Given the description of an element on the screen output the (x, y) to click on. 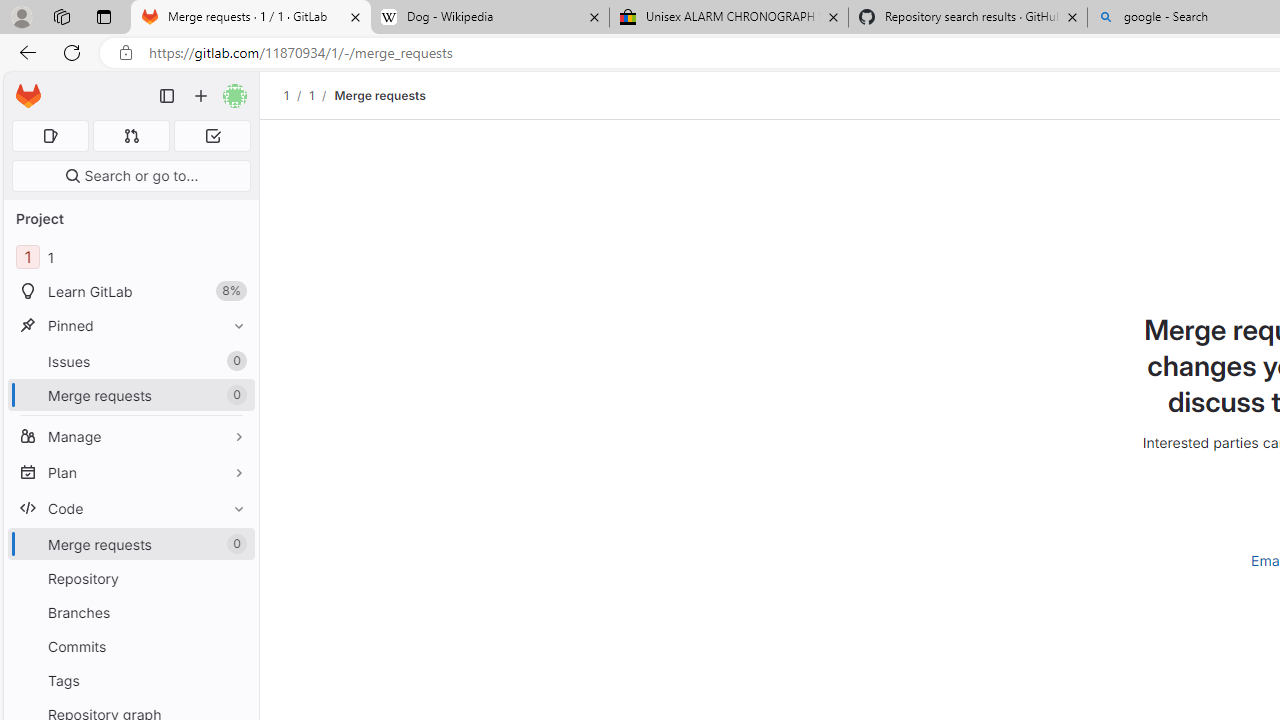
Merge requests (380, 95)
1 (311, 95)
Skip to main content (23, 87)
